Given the description of an element on the screen output the (x, y) to click on. 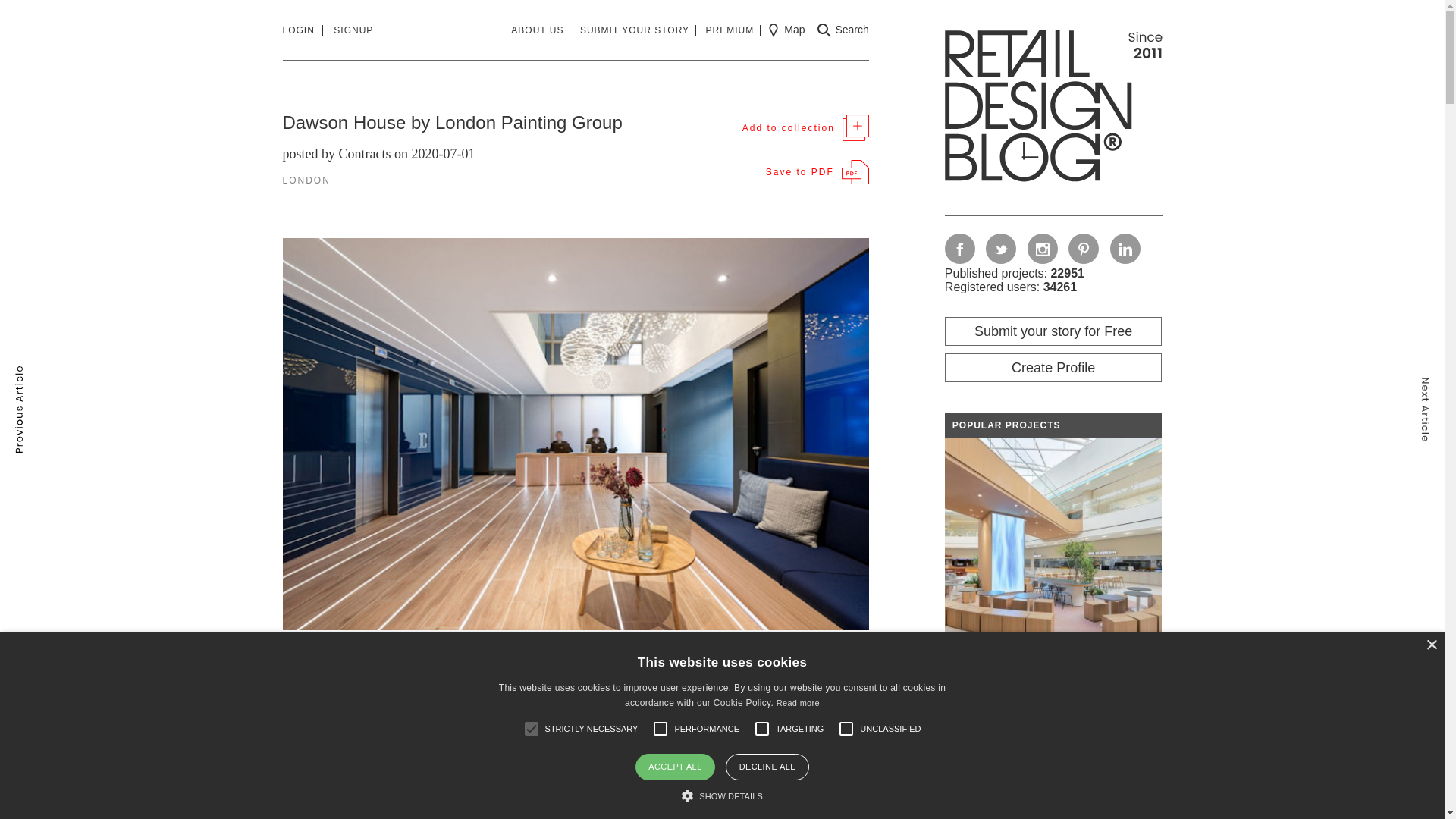
SIGNUP (352, 30)
Save this article to PDF (817, 171)
LOGIN (301, 30)
Map (786, 29)
SUBMIT YOUR STORY (637, 30)
ABOUT US (540, 30)
Search (841, 29)
PREMIUM (733, 30)
